Given the description of an element on the screen output the (x, y) to click on. 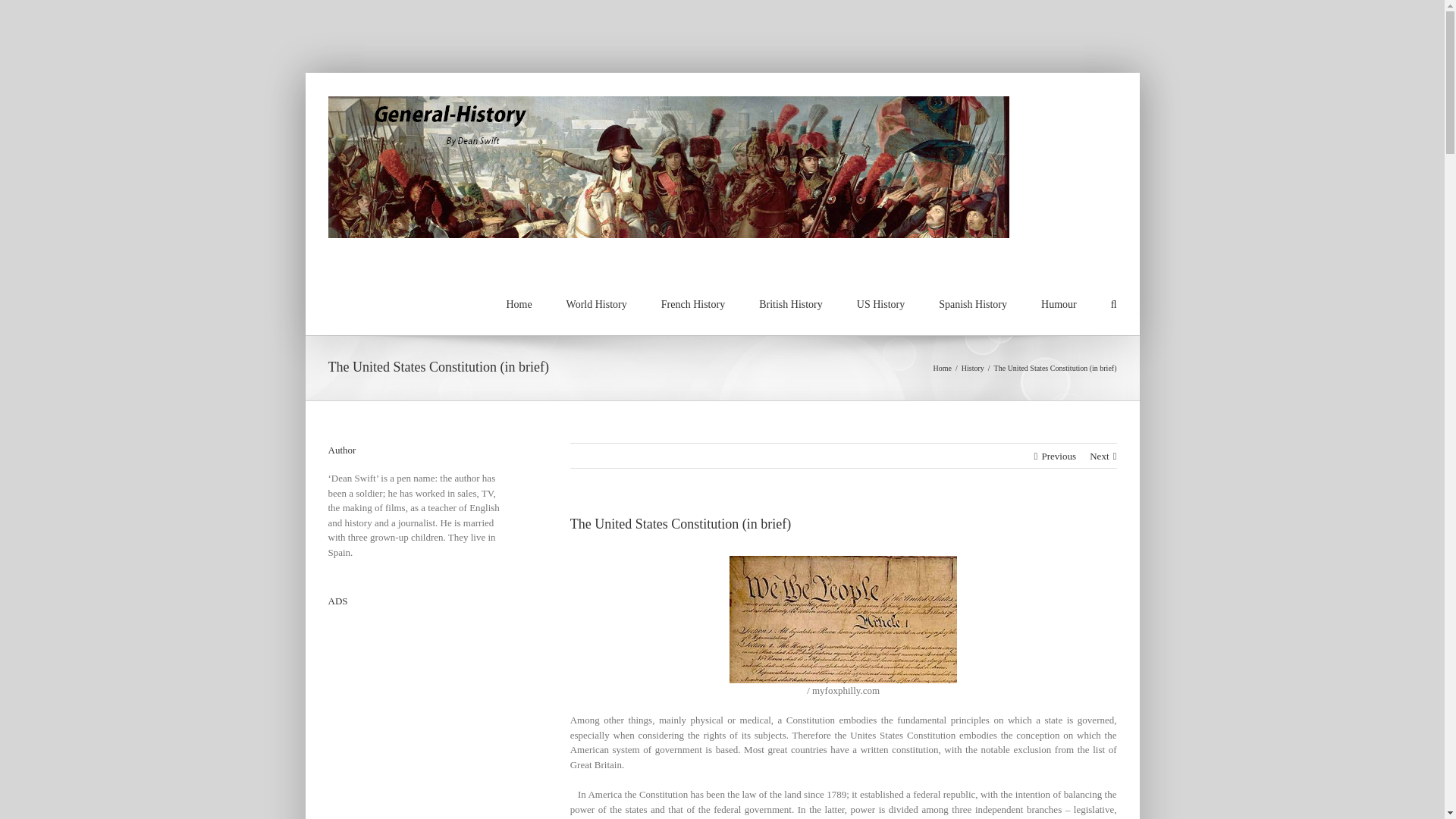
British History (790, 302)
History (972, 367)
Previous (1058, 455)
Home (942, 367)
French History (693, 302)
World History (596, 302)
Spanish History (973, 302)
